Given the description of an element on the screen output the (x, y) to click on. 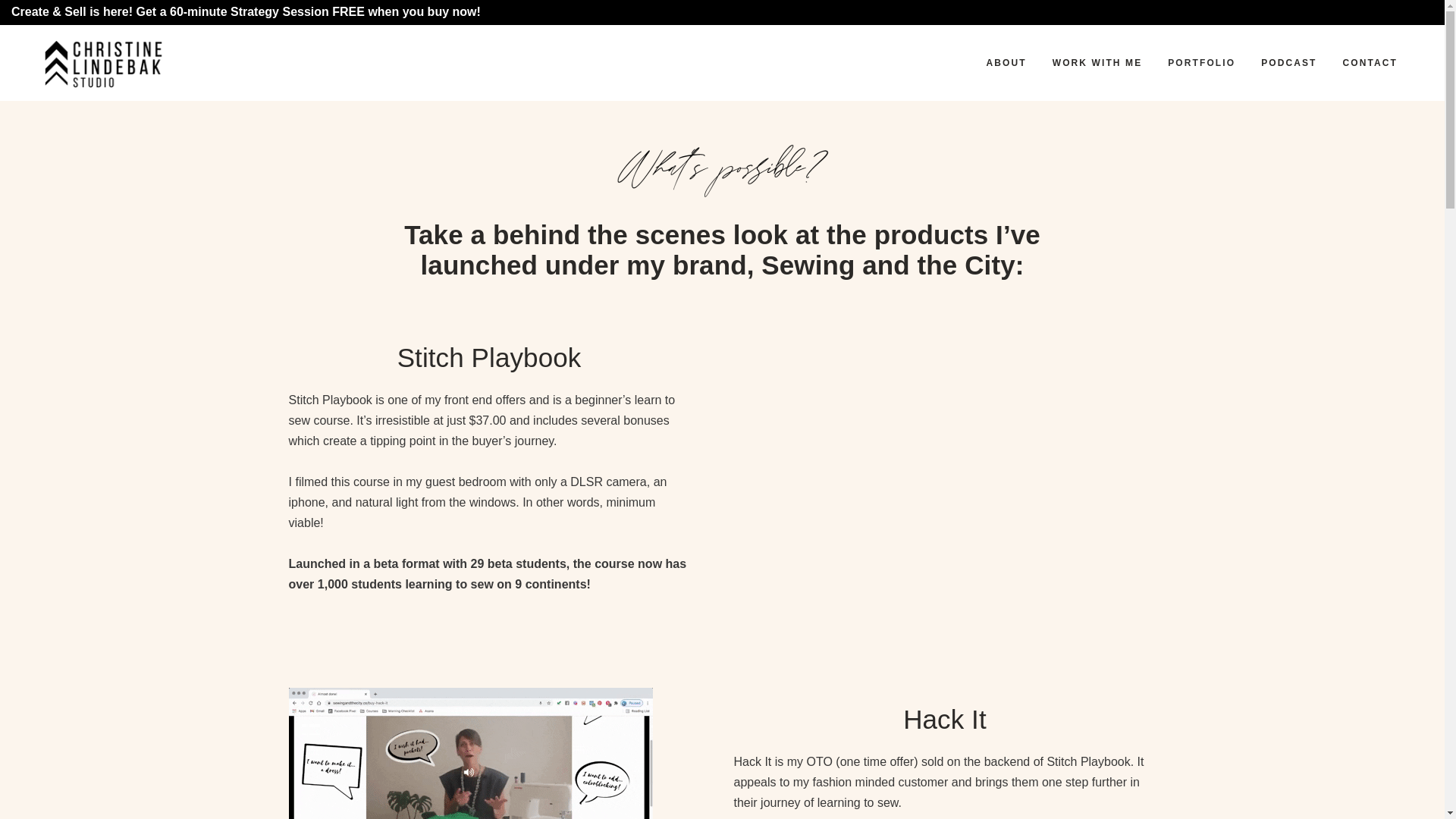
Stitch Playbook (944, 478)
CONTACT (1370, 62)
PORTFOLIO (1200, 62)
PODCAST (1288, 62)
WORK WITH ME (1097, 62)
